Given the description of an element on the screen output the (x, y) to click on. 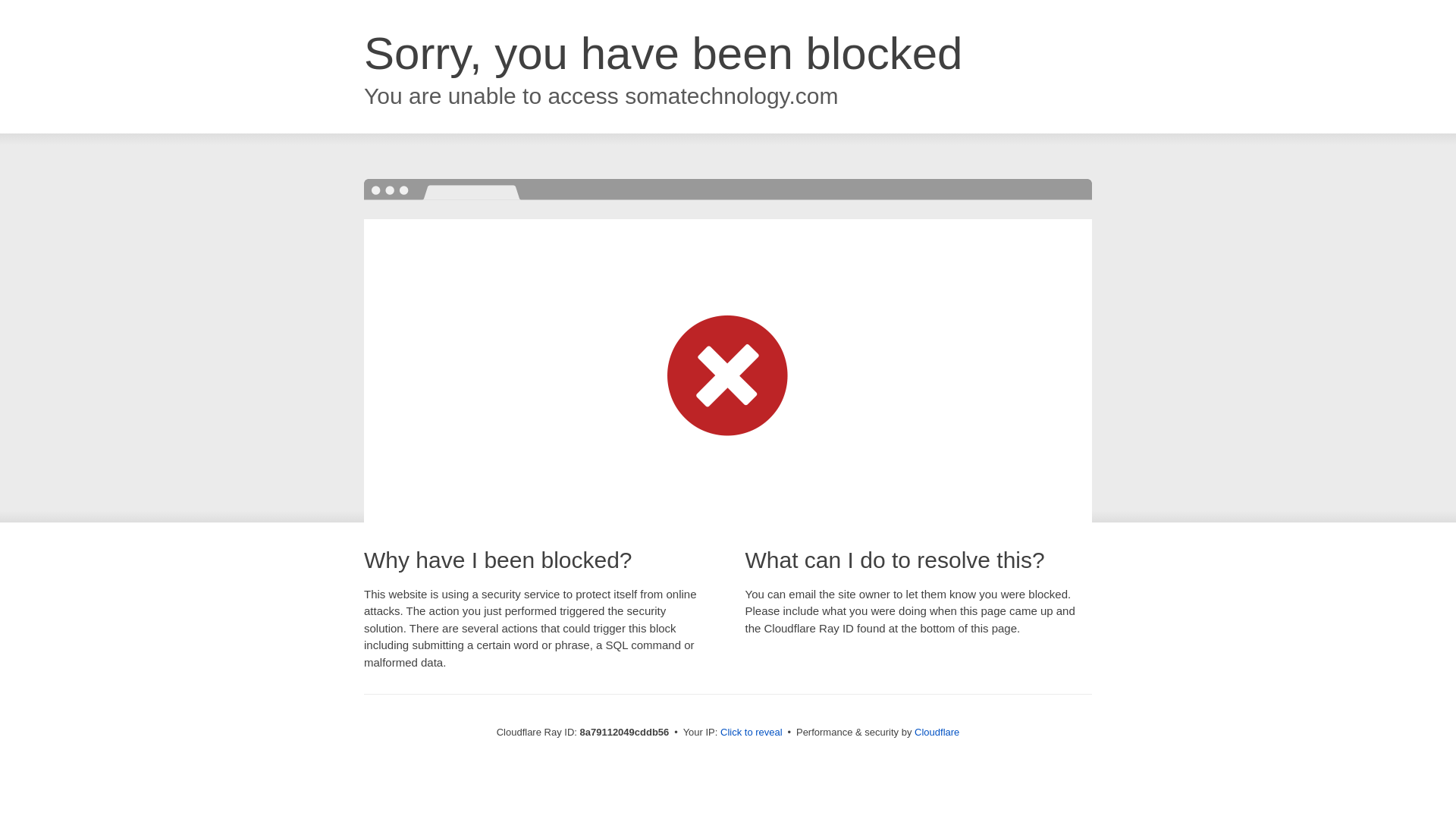
Click to reveal (751, 732)
Cloudflare (936, 731)
